Given the description of an element on the screen output the (x, y) to click on. 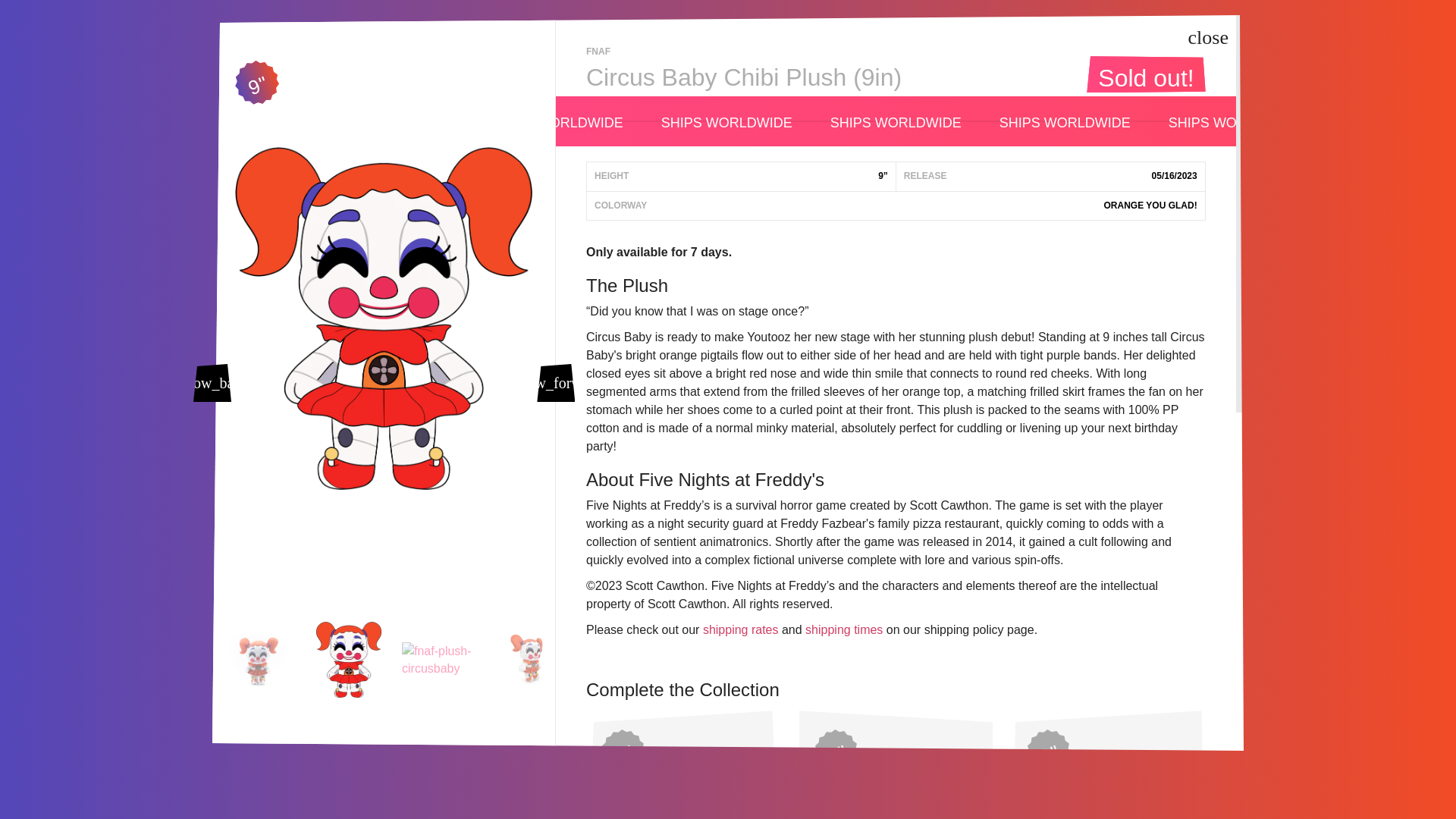
About (932, 657)
Shipping Policy (692, 696)
TERMS (932, 678)
PRIVACY (936, 701)
Youtooz on Facebook (321, 678)
Shipping Policy (692, 696)
Youtooz on Instagram (380, 678)
Contact Us (692, 645)
FAQ (924, 634)
shipping rates (740, 629)
CONTACT US (948, 724)
ABOUT (932, 657)
Track My Order (692, 748)
Contact Us (692, 645)
FAQ (924, 634)
